Given the description of an element on the screen output the (x, y) to click on. 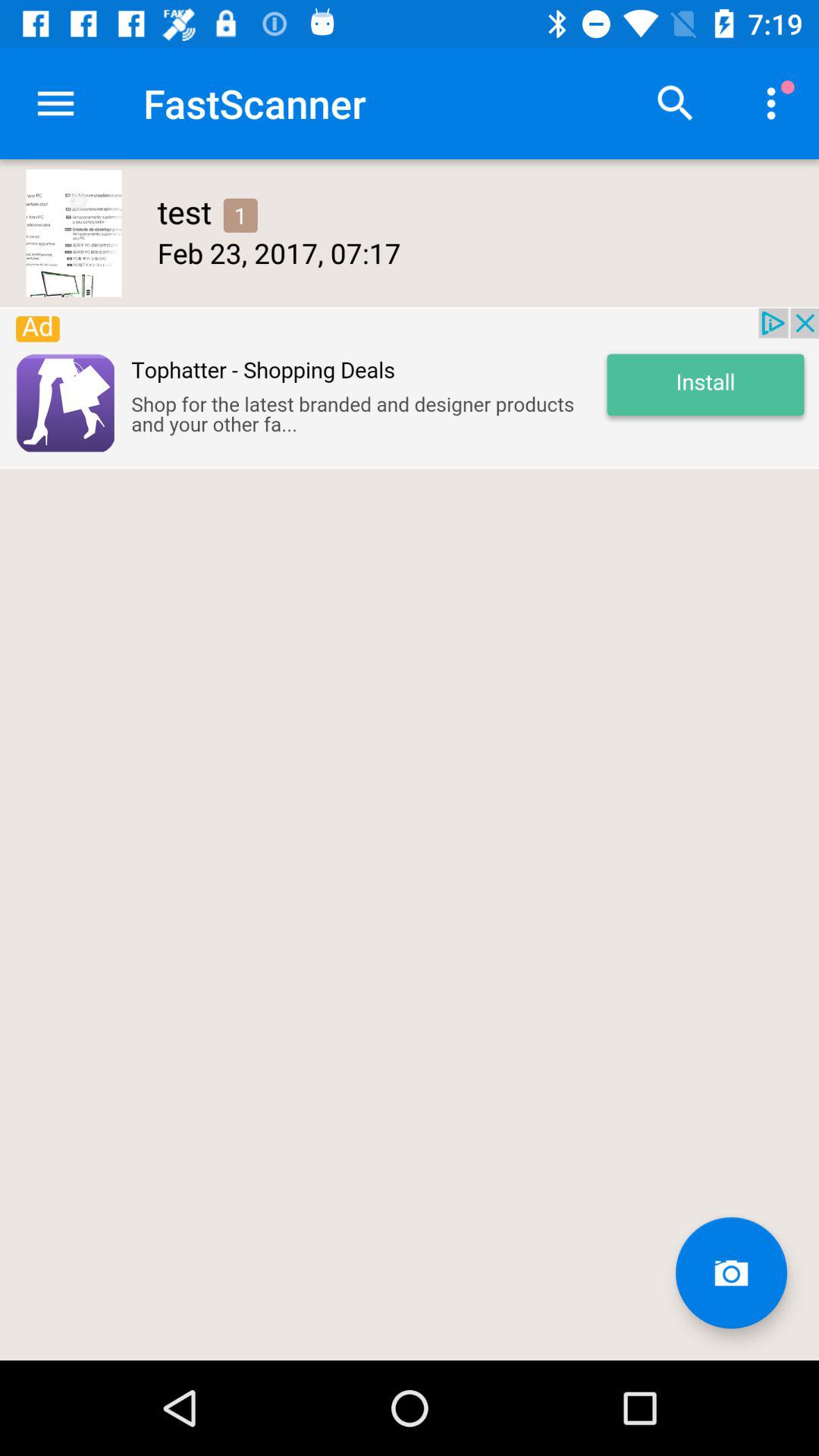
initiate search (675, 103)
